Given the description of an element on the screen output the (x, y) to click on. 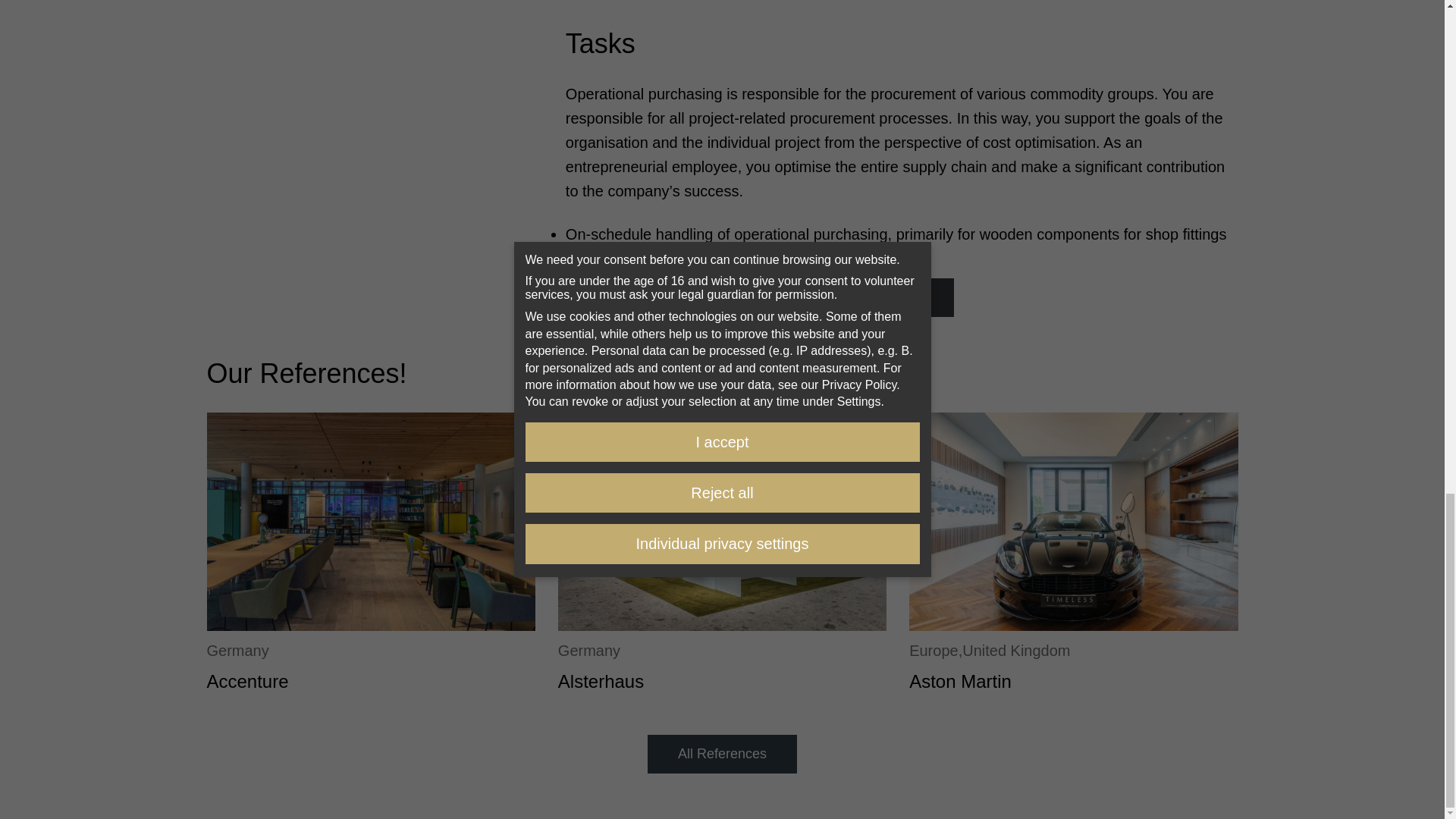
All References (721, 753)
Alsterhaus (600, 680)
Accenture (247, 680)
Aston Martin (959, 680)
